Given the description of an element on the screen output the (x, y) to click on. 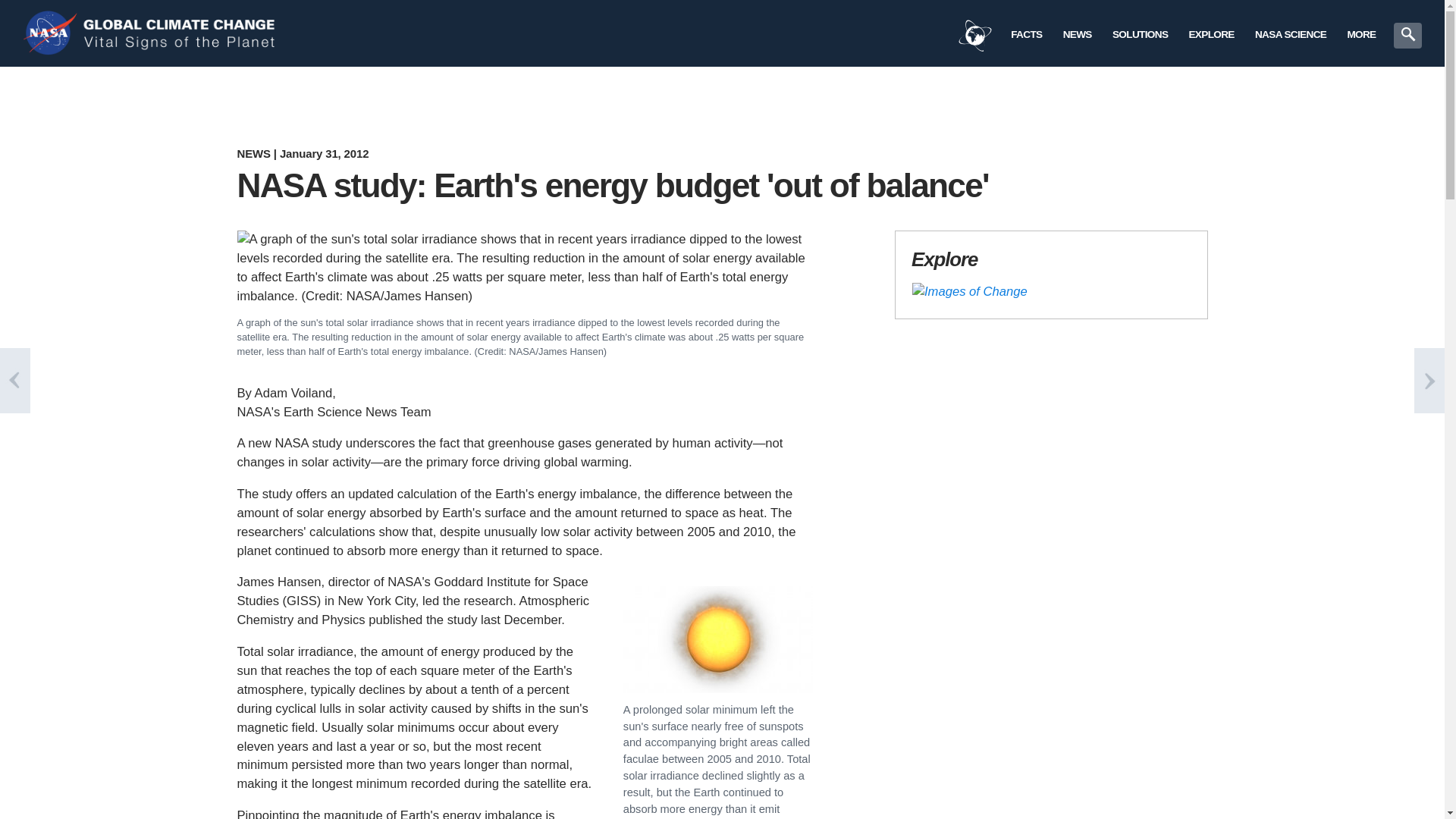
FACTS (1026, 31)
Home (182, 33)
visit nasa.gov (51, 33)
NASA (51, 33)
Global Climate Change (182, 33)
